Given the description of an element on the screen output the (x, y) to click on. 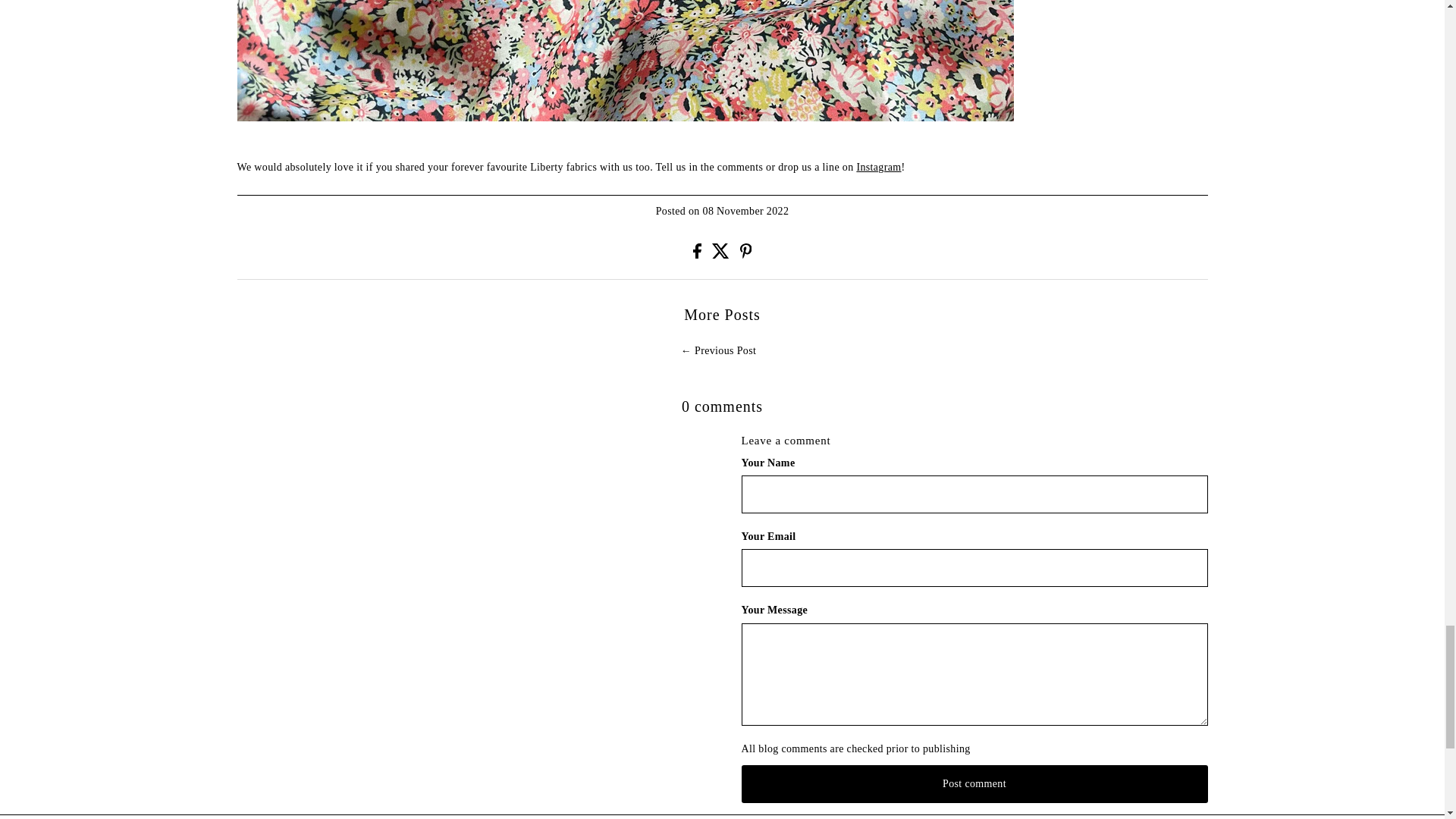
Share on Pinterest (745, 255)
Share on Twitter (721, 255)
Post comment (974, 783)
Share on Facebook (698, 255)
